Given the description of an element on the screen output the (x, y) to click on. 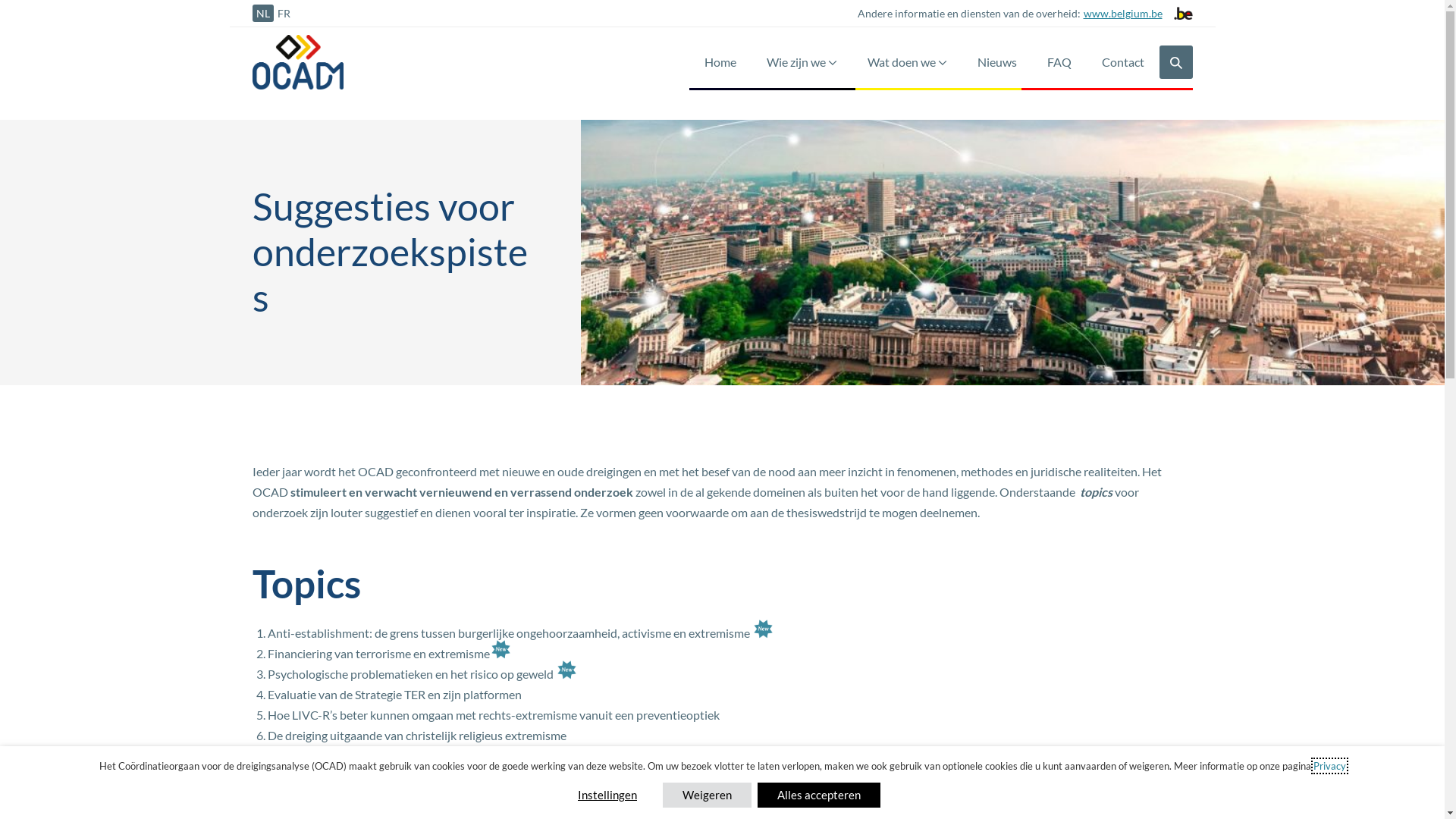
Wie zijn we Element type: text (800, 61)
Zoeken toggle Element type: text (1175, 61)
Contact Element type: text (1121, 61)
FR Element type: text (283, 13)
NL Element type: text (262, 13)
Nieuws Element type: text (996, 61)
Alles accepteren Element type: text (818, 794)
www.belgium.be Element type: text (1120, 13)
Logo OCAD Element type: hover (296, 61)
Home Element type: text (719, 61)
Instellingen Element type: text (607, 794)
FAQ Element type: text (1058, 61)
Wat doen we Element type: text (907, 61)
Privacy Element type: text (1329, 765)
Weigeren Element type: text (706, 794)
